Given the description of an element on the screen output the (x, y) to click on. 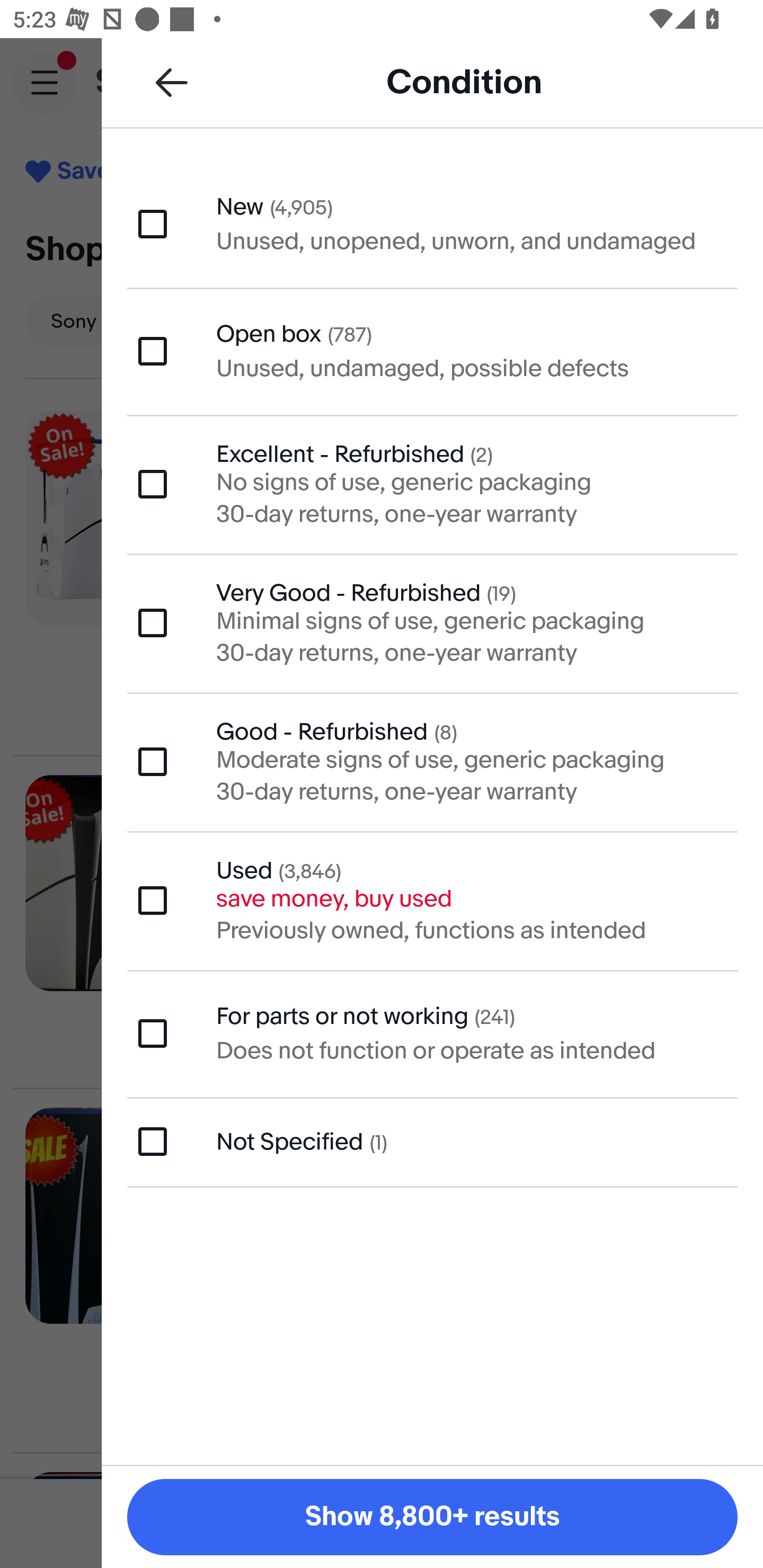
Back to all refinements (171, 81)
Open box (787) Unused, undamaged, possible defects (432, 350)
Not Specified (1) (432, 1141)
Show 8,800+ results (432, 1516)
